Given the description of an element on the screen output the (x, y) to click on. 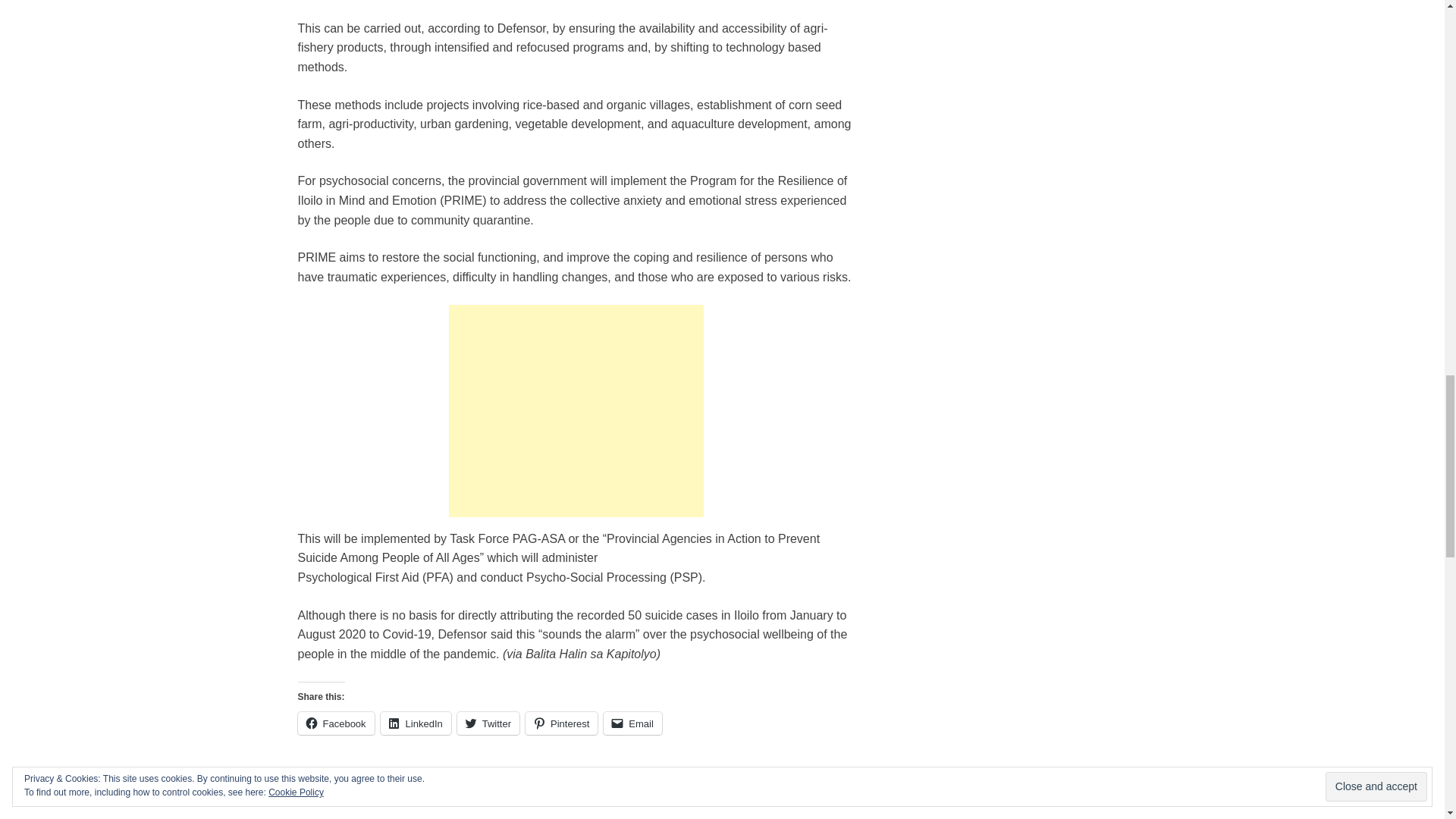
ARTHUR DEFENSOR JR. (401, 777)
Email (633, 722)
Pinterest (560, 722)
REHAB PLAN (544, 777)
LinkedIn (415, 722)
Click to share on Facebook (335, 722)
Click to share on LinkedIn (415, 722)
Twitter (488, 722)
Click to share on Pinterest (560, 722)
Facebook (335, 722)
